Given the description of an element on the screen output the (x, y) to click on. 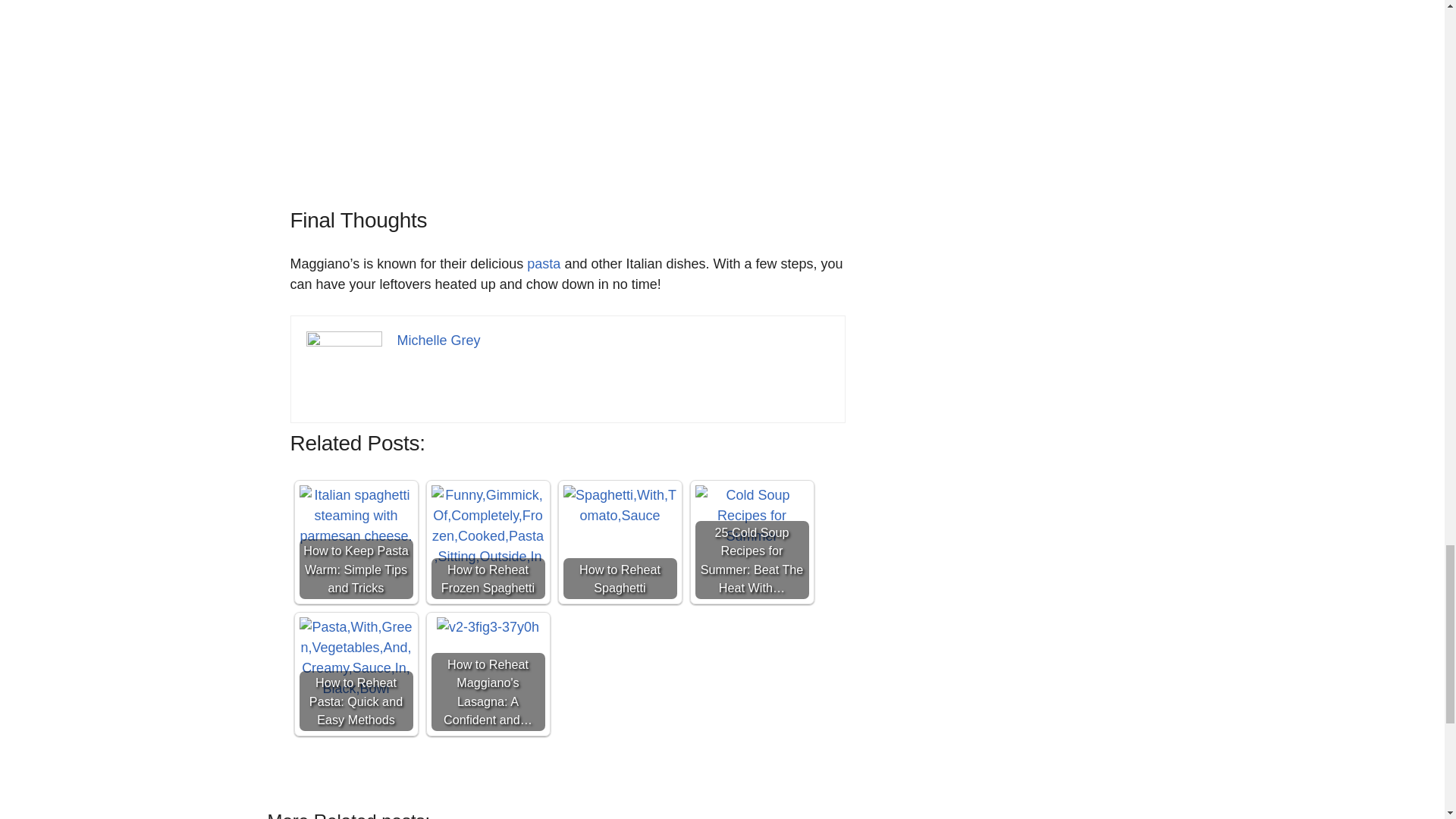
How to Keep Pasta Warm: Simple Tips and Tricks (355, 541)
Michelle Grey (438, 340)
How to Reheat Pasta: Quick and Easy Methods (355, 674)
How to Reheat Frozen Spaghetti (487, 541)
How to Keep Pasta Warm: Simple Tips and Tricks (355, 516)
How to Reheat Spaghetti (619, 541)
How to Reheat Spaghetti (619, 505)
How to Reheat Pasta: Quick and Easy Methods (355, 658)
pasta (543, 263)
